Given the description of an element on the screen output the (x, y) to click on. 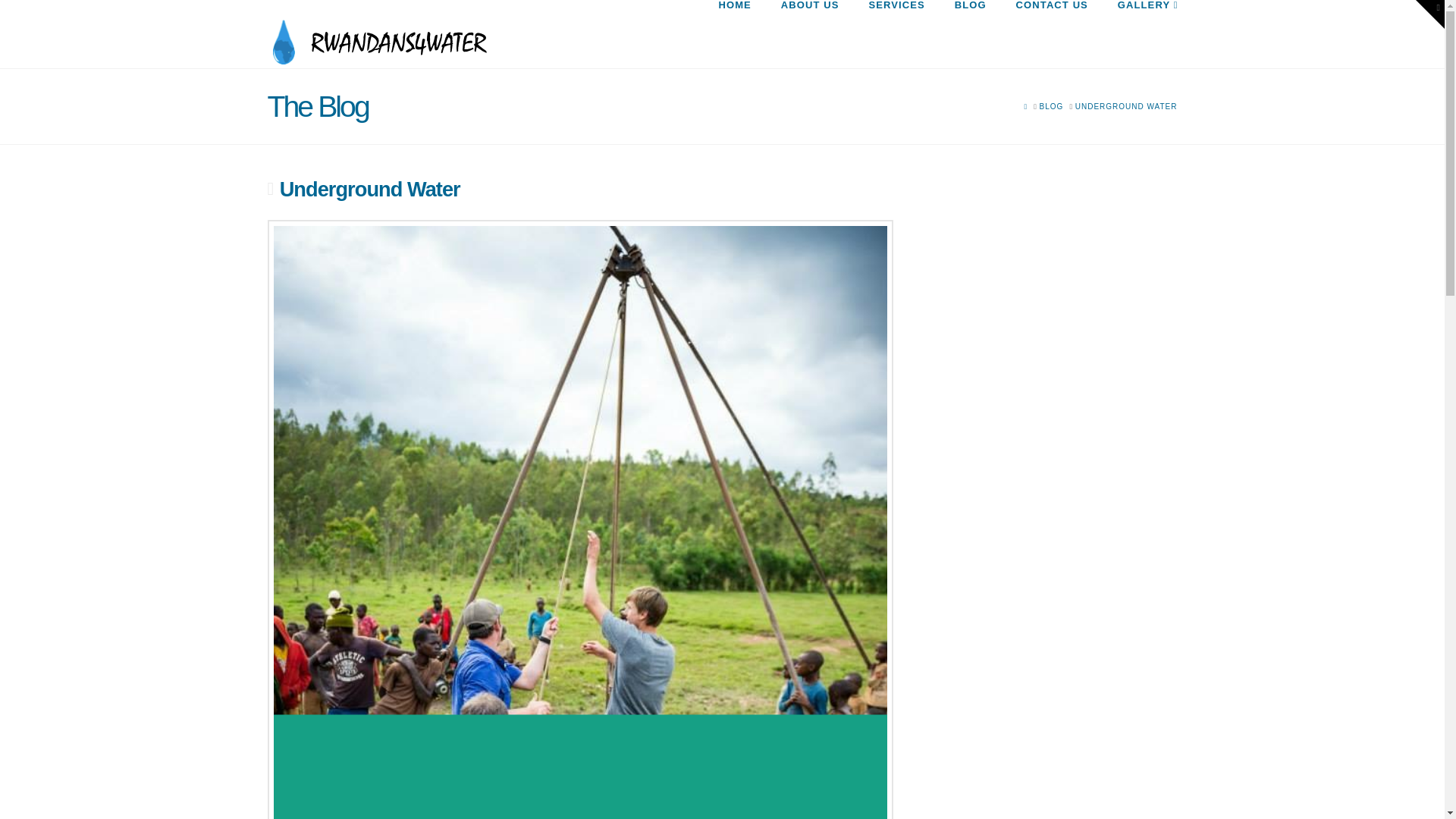
GALLERY (1139, 33)
You Are Here (1126, 106)
ABOUT US (809, 33)
BLOG (970, 33)
HOME (734, 33)
UNDERGROUND WATER (1126, 106)
CONTACT US (1051, 33)
SERVICES (896, 33)
BLOG (1050, 106)
